Given the description of an element on the screen output the (x, y) to click on. 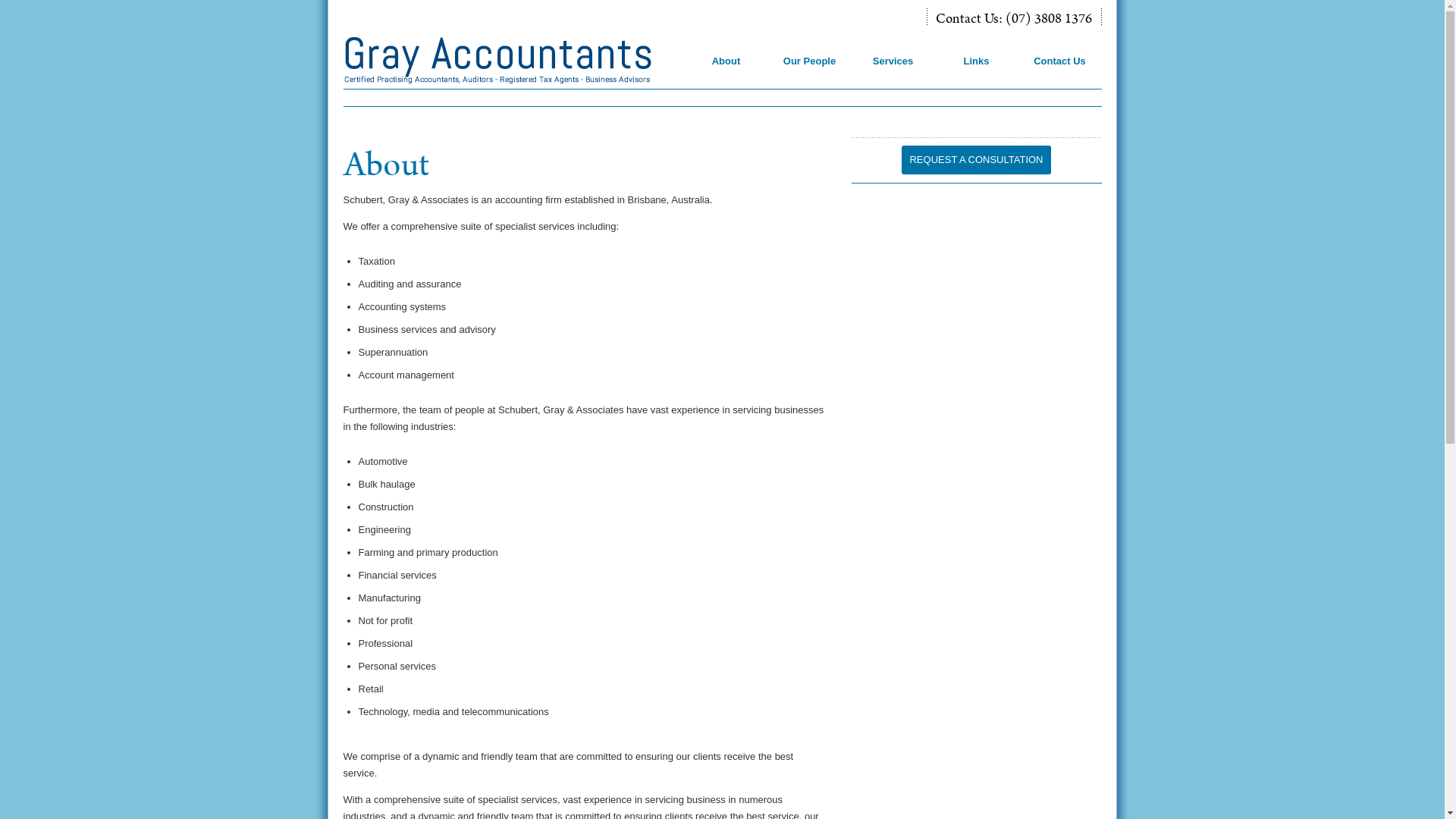
Gray Accountants Element type: text (513, 60)
Our People Element type: text (810, 72)
Contact Us: (07) 3808 1376 Element type: text (1013, 19)
Contact Us Element type: text (1060, 72)
About Element type: text (727, 72)
Services Element type: text (894, 72)
Links Element type: text (977, 72)
